Given the description of an element on the screen output the (x, y) to click on. 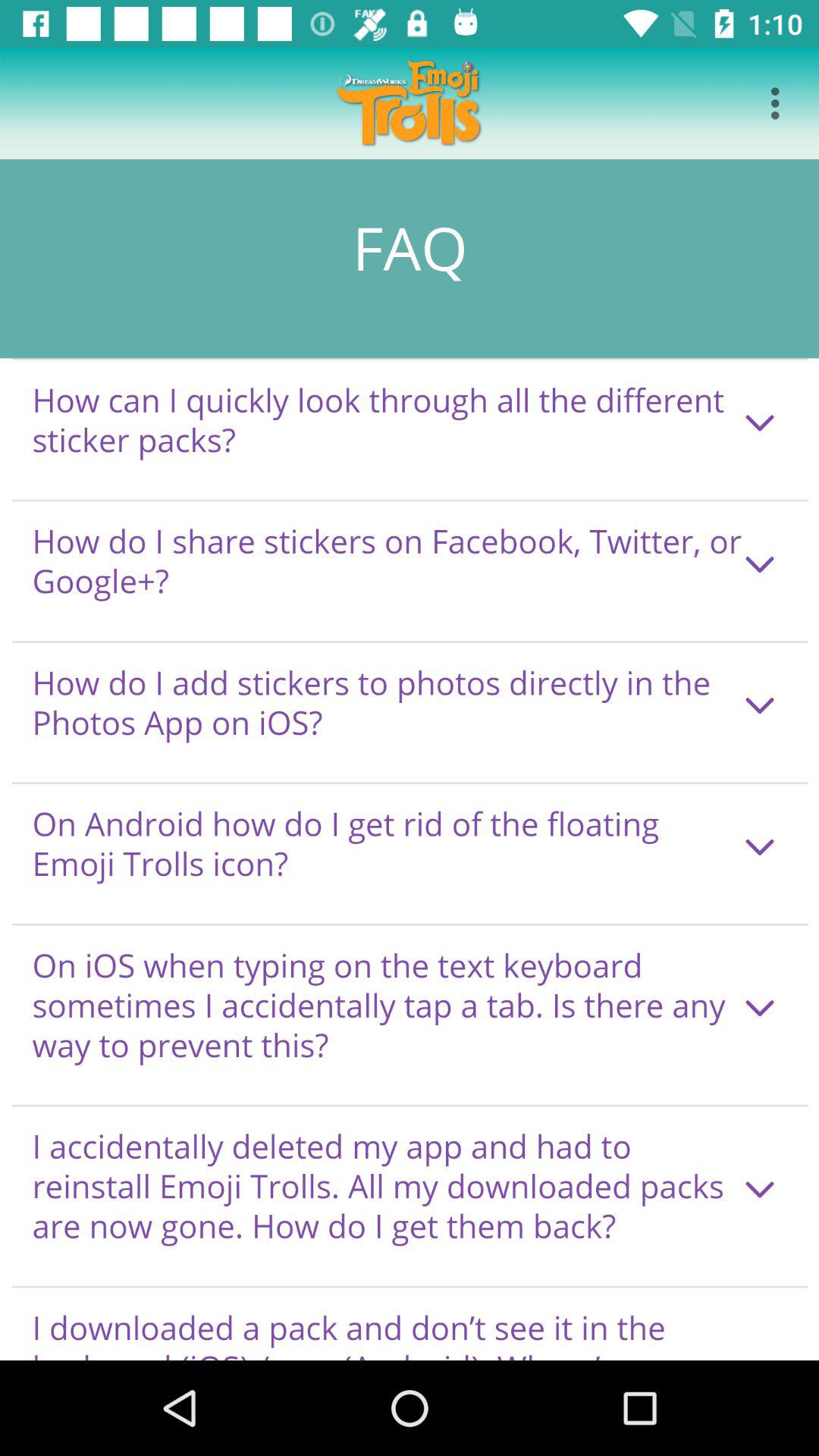
faq page (409, 759)
